Given the description of an element on the screen output the (x, y) to click on. 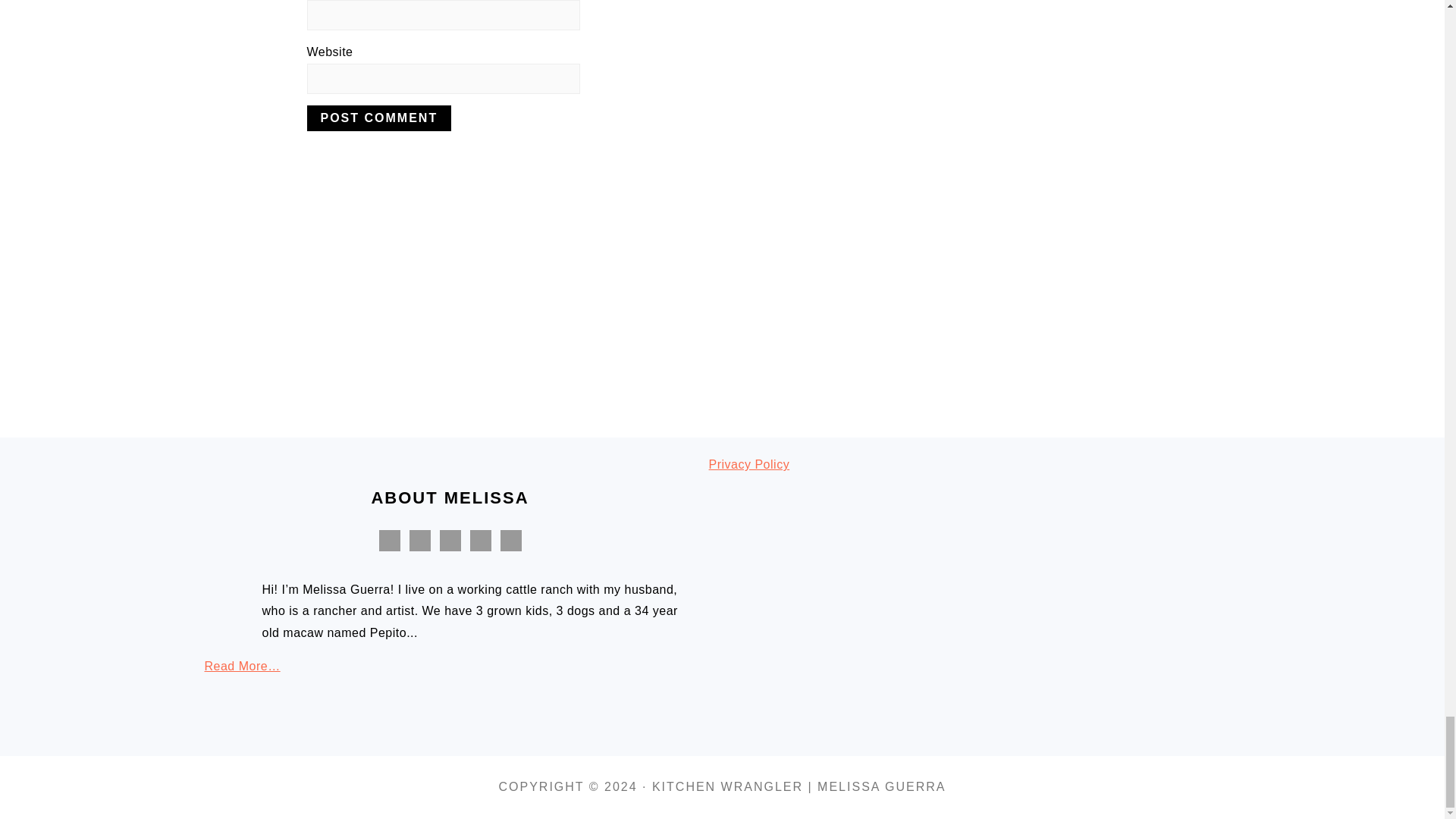
Post Comment (378, 118)
Post Comment (378, 118)
